Given the description of an element on the screen output the (x, y) to click on. 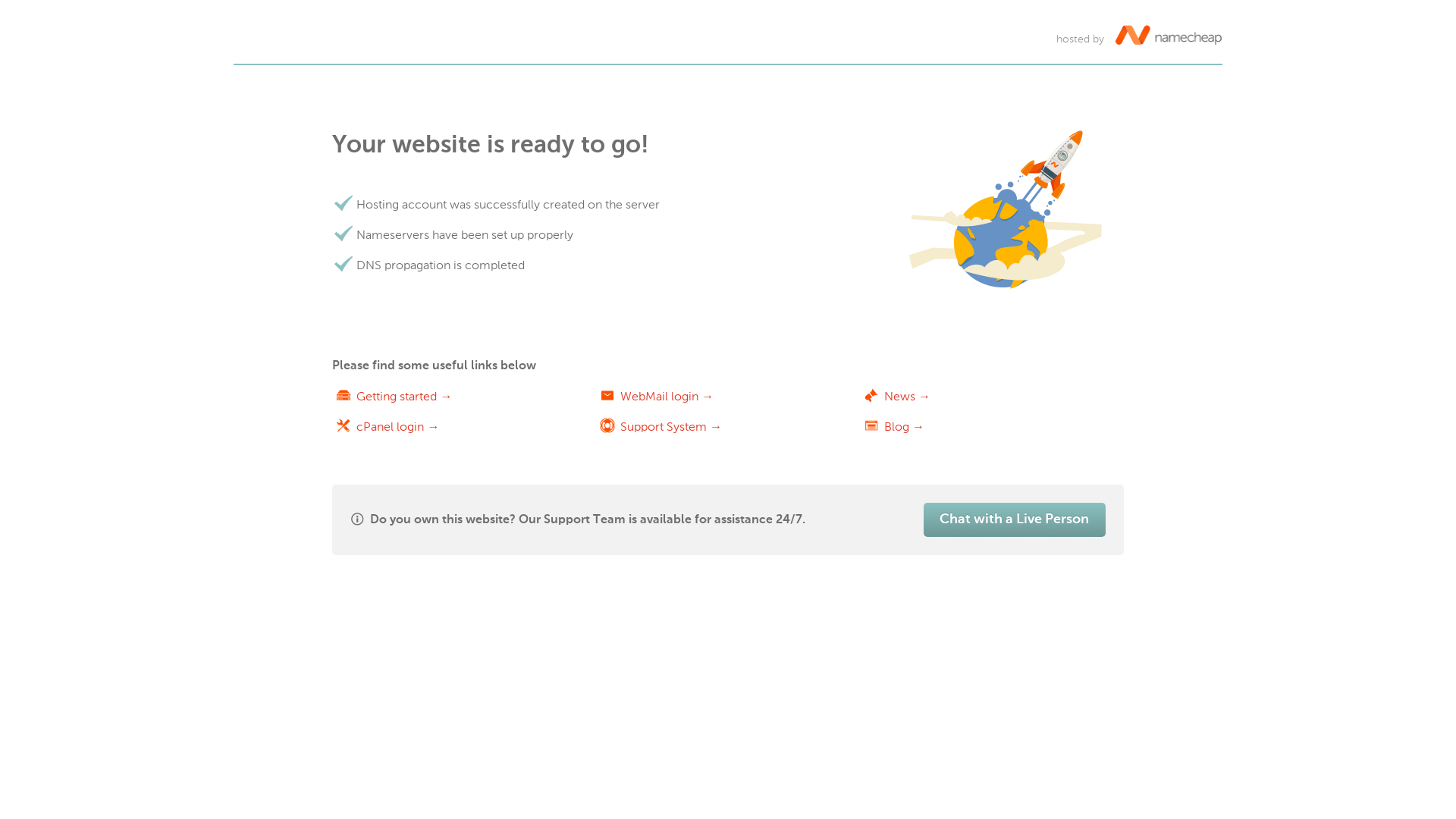
Chat with a Live Person Element type: text (1014, 519)
